Given the description of an element on the screen output the (x, y) to click on. 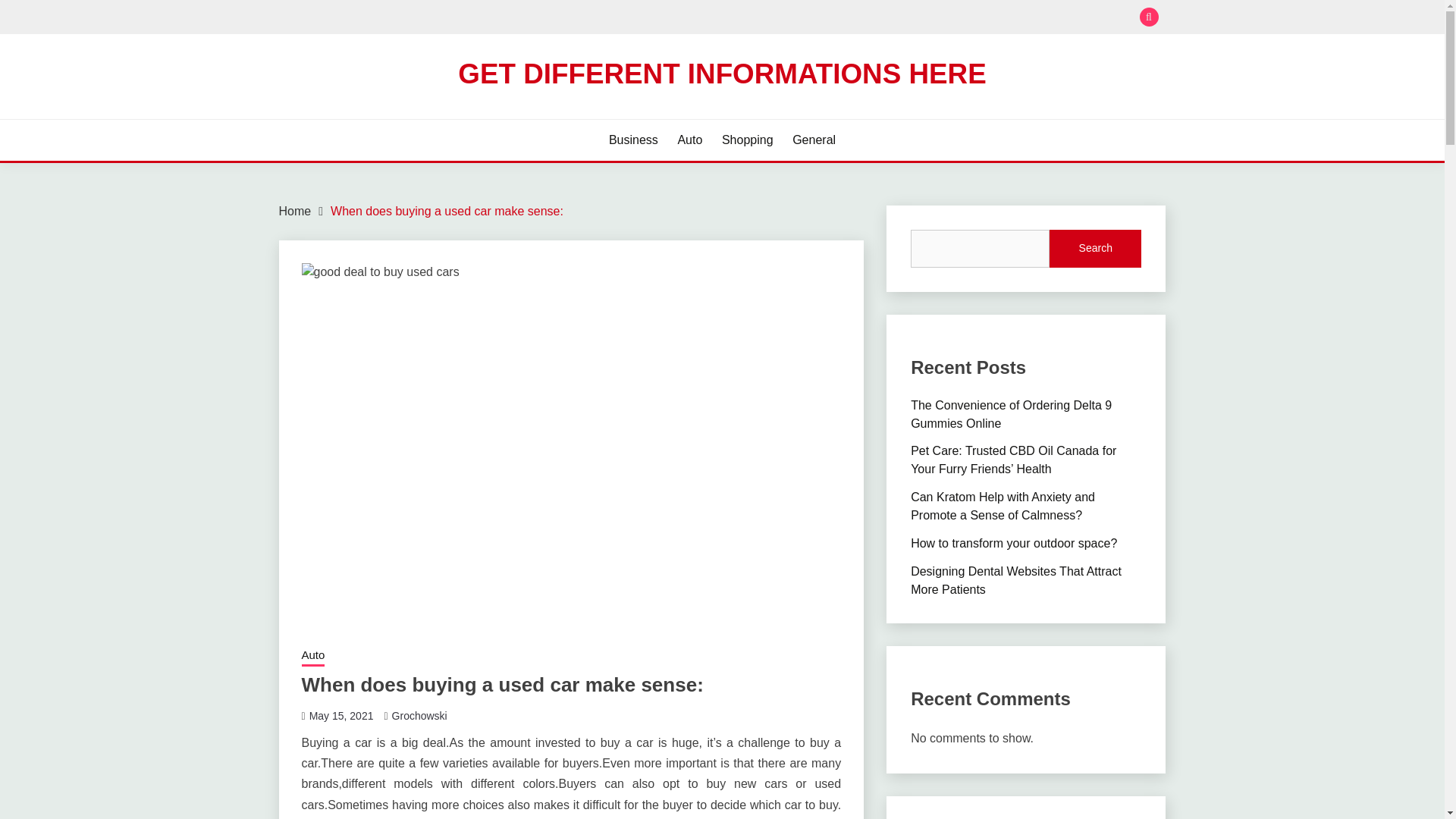
When does buying a used car make sense: (446, 210)
Shopping (747, 140)
Search (832, 18)
May 15, 2021 (341, 715)
Grochowski (418, 715)
How to transform your outdoor space? (1013, 543)
General (813, 140)
Search (1095, 248)
Business (633, 140)
The Convenience of Ordering Delta 9 Gummies Online (1011, 413)
GET DIFFERENT INFORMATIONS HERE (721, 73)
Designing Dental Websites That Attract More Patients (1016, 580)
Home (295, 210)
Auto (312, 656)
